Given the description of an element on the screen output the (x, y) to click on. 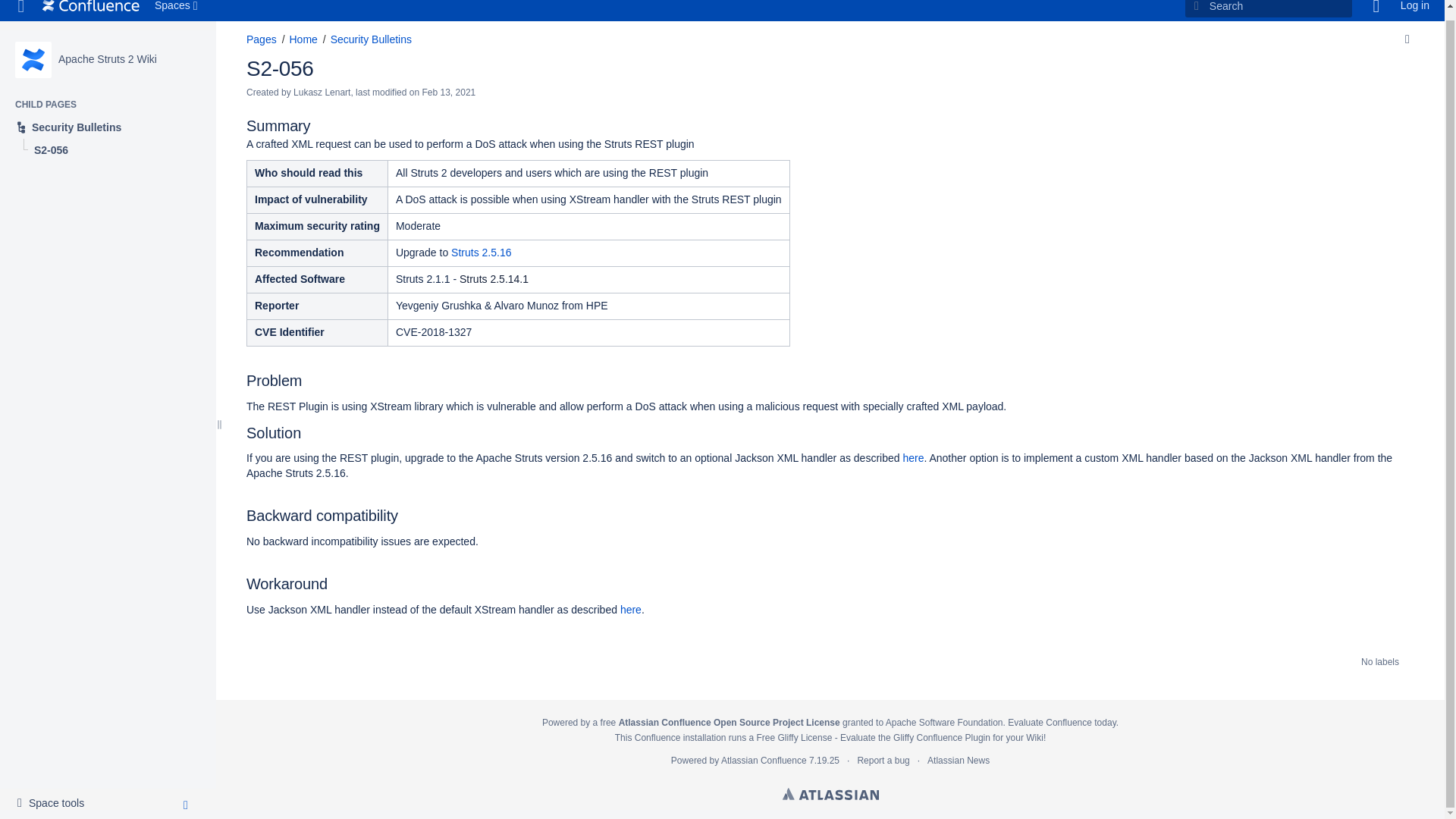
Linked Applications (20, 10)
Apache Struts 2 Wiki (107, 50)
Security Bulletins (371, 39)
Apache Software Foundation (54, 793)
Pages (90, 10)
Apache Struts 2 Wiki (261, 39)
Help (107, 50)
Security Bulletins (1376, 10)
Help (107, 118)
Apache Struts 2 Wiki (1376, 10)
Lukasz Lenart (32, 50)
Spaces (322, 91)
Log in (177, 10)
Security Bulletins (1415, 10)
